Given the description of an element on the screen output the (x, y) to click on. 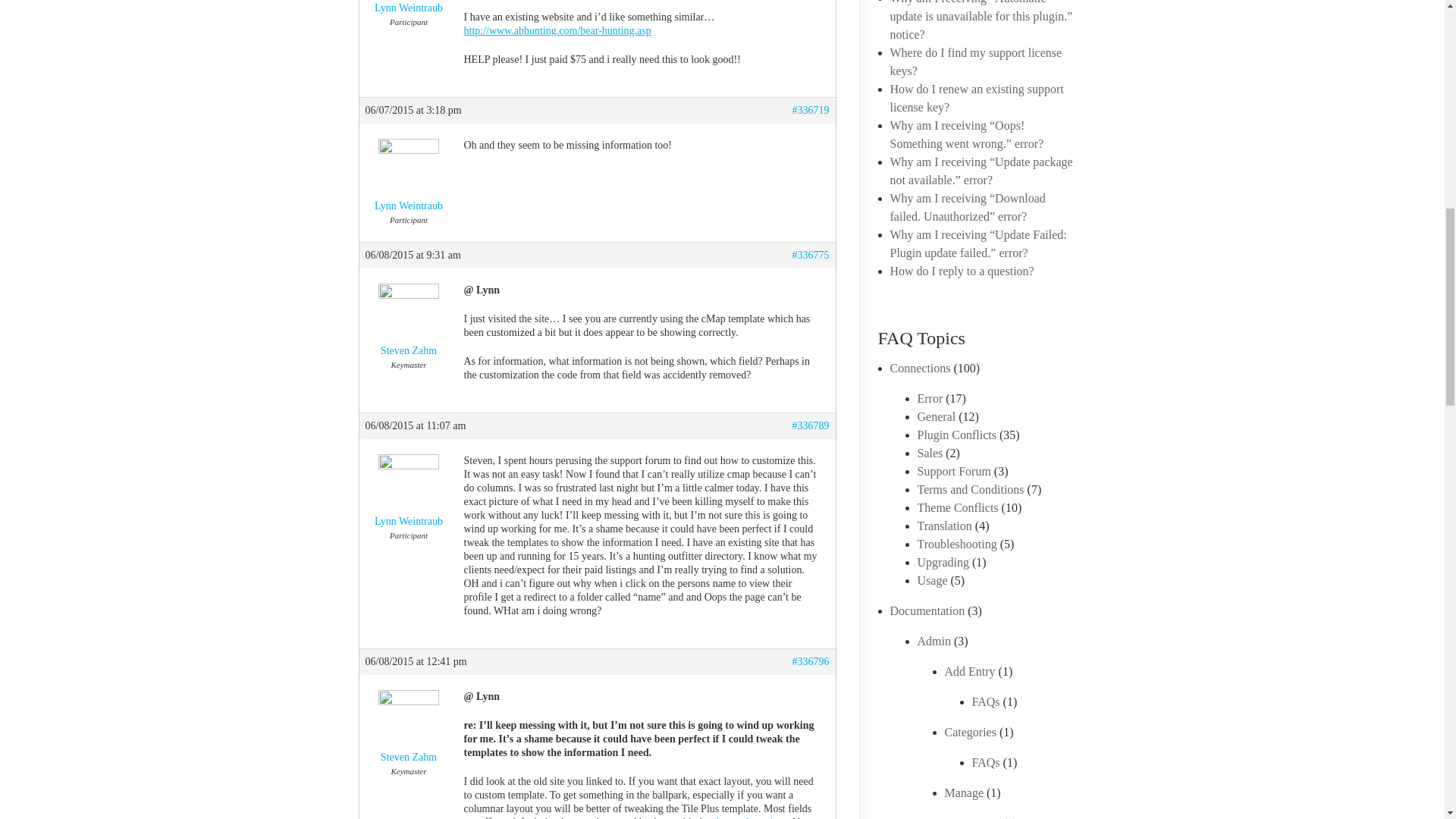
View Lynn Weintraub's profile (408, 494)
View Steven Zahm's profile (408, 323)
View Lynn Weintraub's profile (408, 178)
View Lynn Weintraub's profile (408, 7)
View Steven Zahm's profile (408, 730)
